Given the description of an element on the screen output the (x, y) to click on. 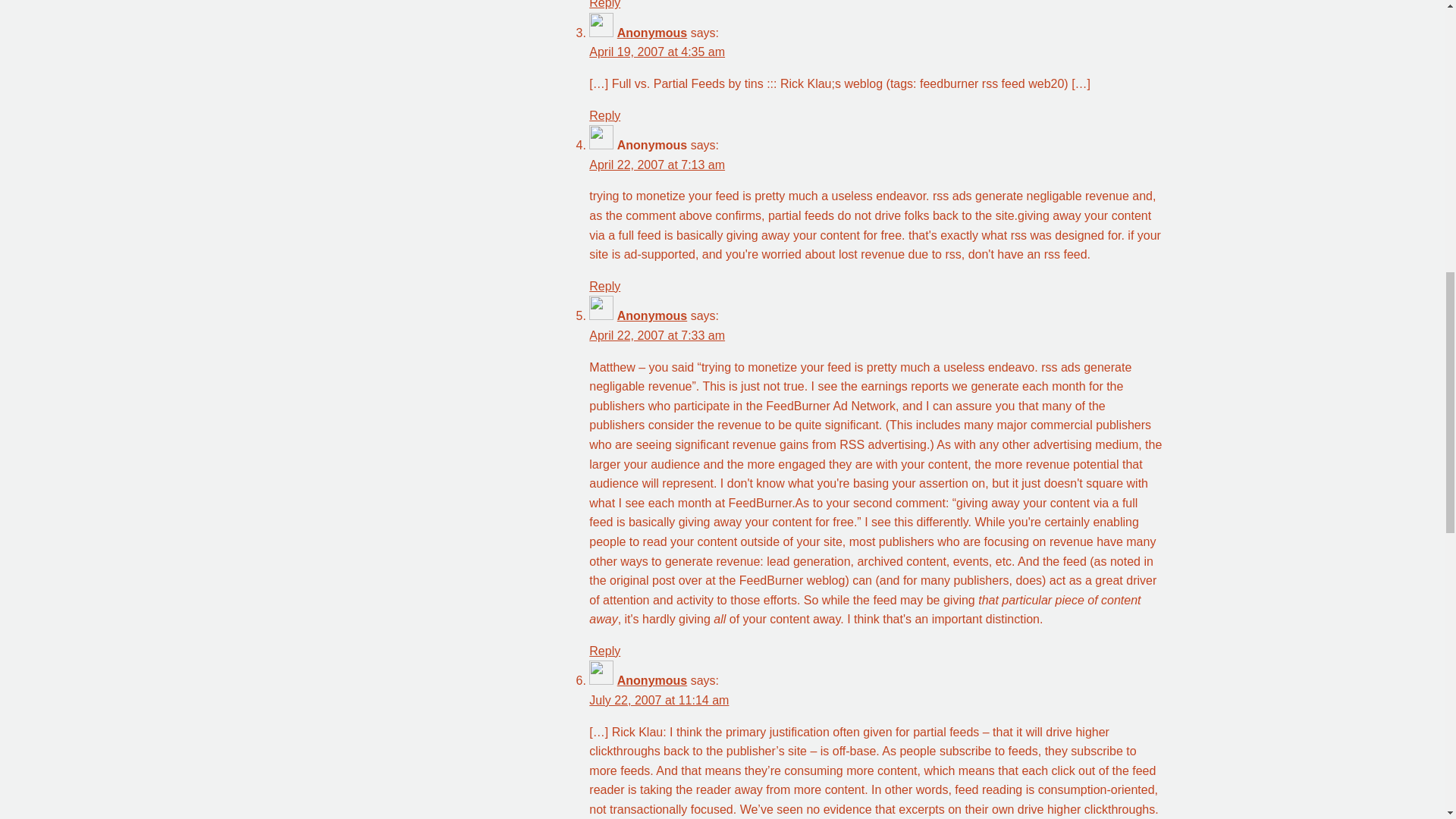
April 22, 2007 at 7:13 am (657, 164)
Reply (604, 4)
Reply (604, 650)
July 22, 2007 at 11:14 am (659, 699)
April 19, 2007 at 4:35 am (657, 51)
Reply (604, 286)
Anonymous (652, 680)
April 22, 2007 at 7:33 am (657, 335)
Anonymous (652, 32)
Anonymous (652, 315)
Reply (604, 115)
